Given the description of an element on the screen output the (x, y) to click on. 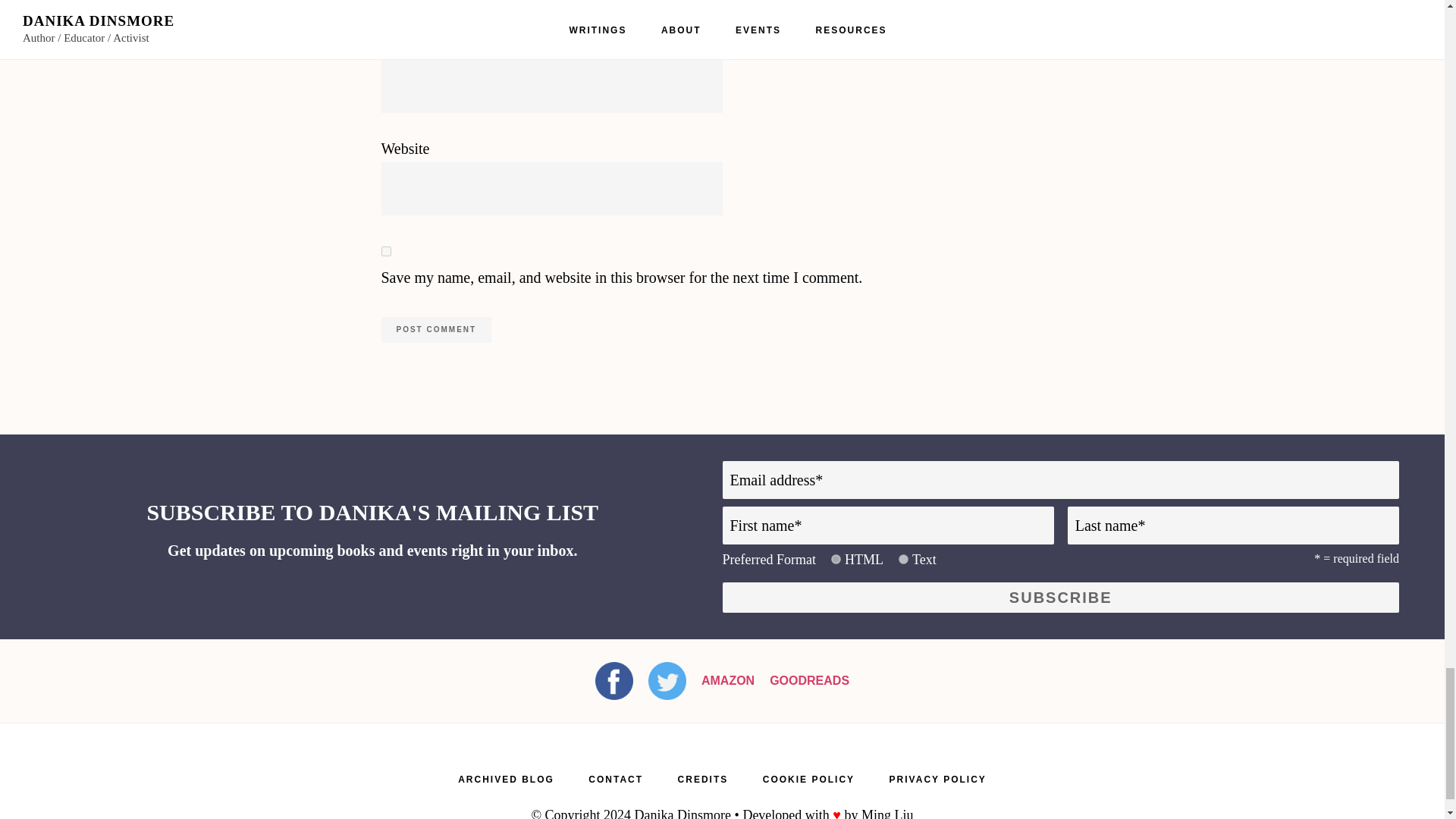
yes (385, 251)
Subscribe (1060, 597)
Post Comment (436, 329)
html (836, 559)
text (903, 559)
